Given the description of an element on the screen output the (x, y) to click on. 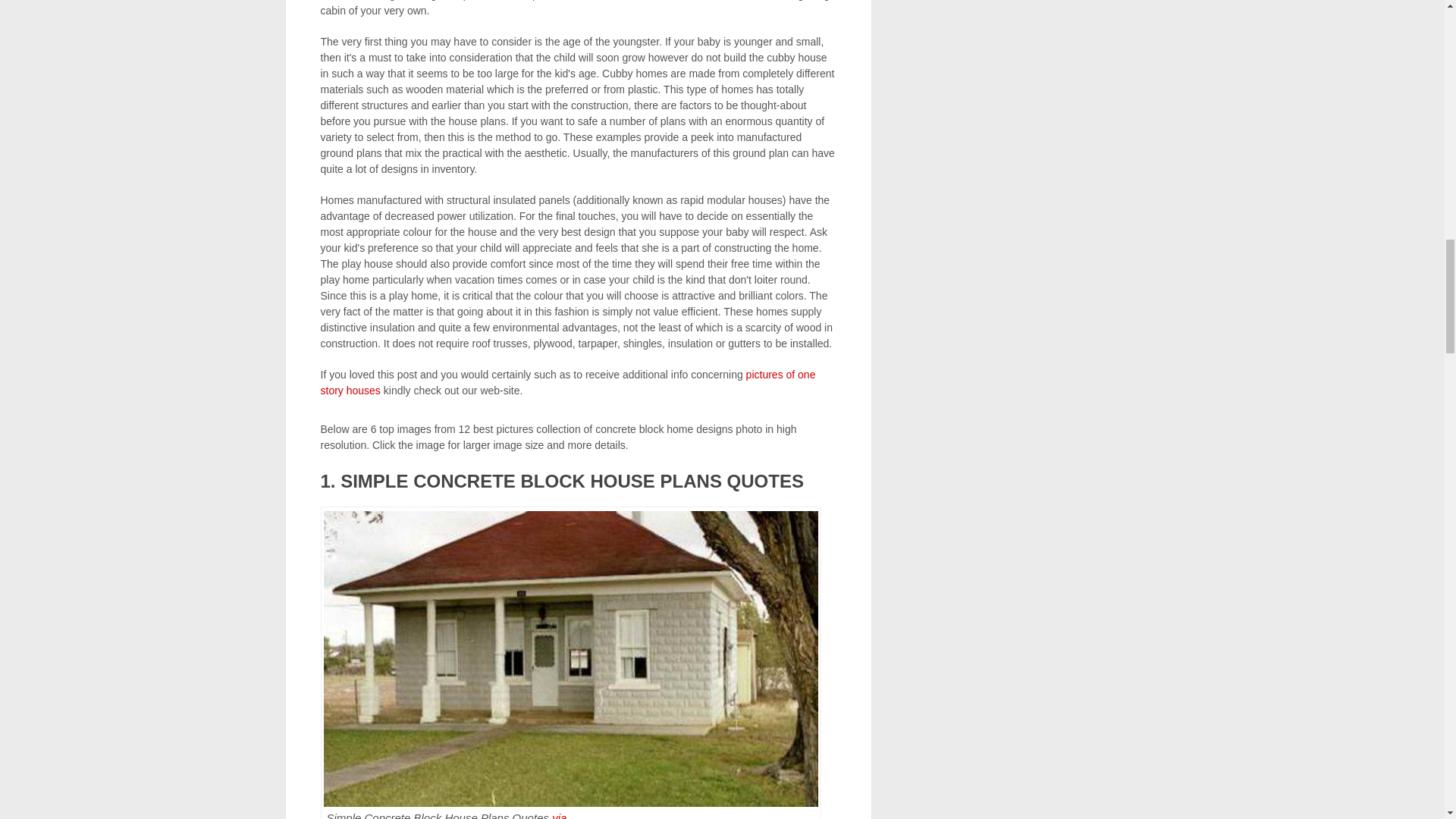
via (558, 815)
pictures of one story houses (567, 382)
